Given the description of an element on the screen output the (x, y) to click on. 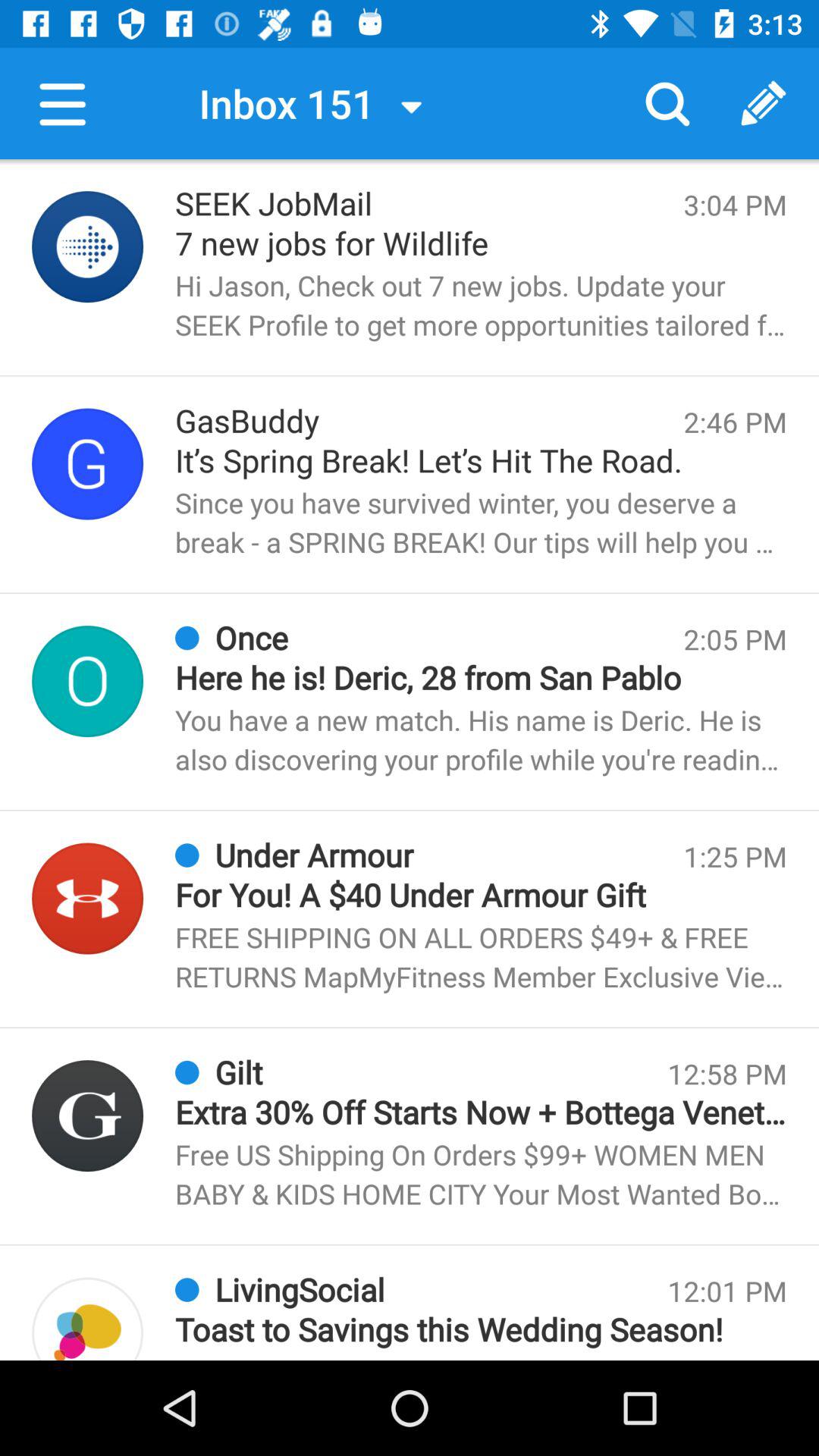
go to the page (87, 246)
